Given the description of an element on the screen output the (x, y) to click on. 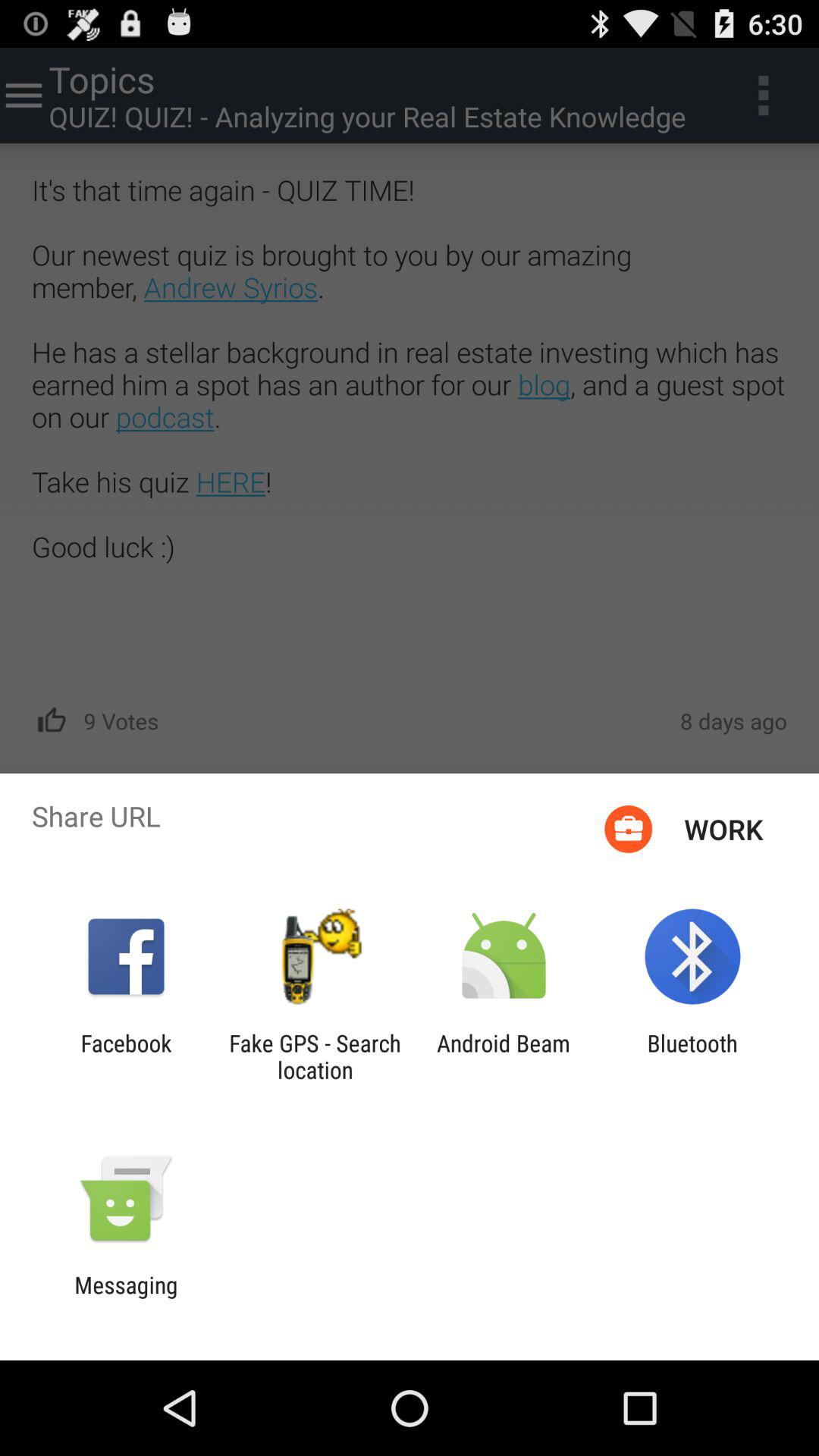
open the messaging icon (126, 1298)
